Given the description of an element on the screen output the (x, y) to click on. 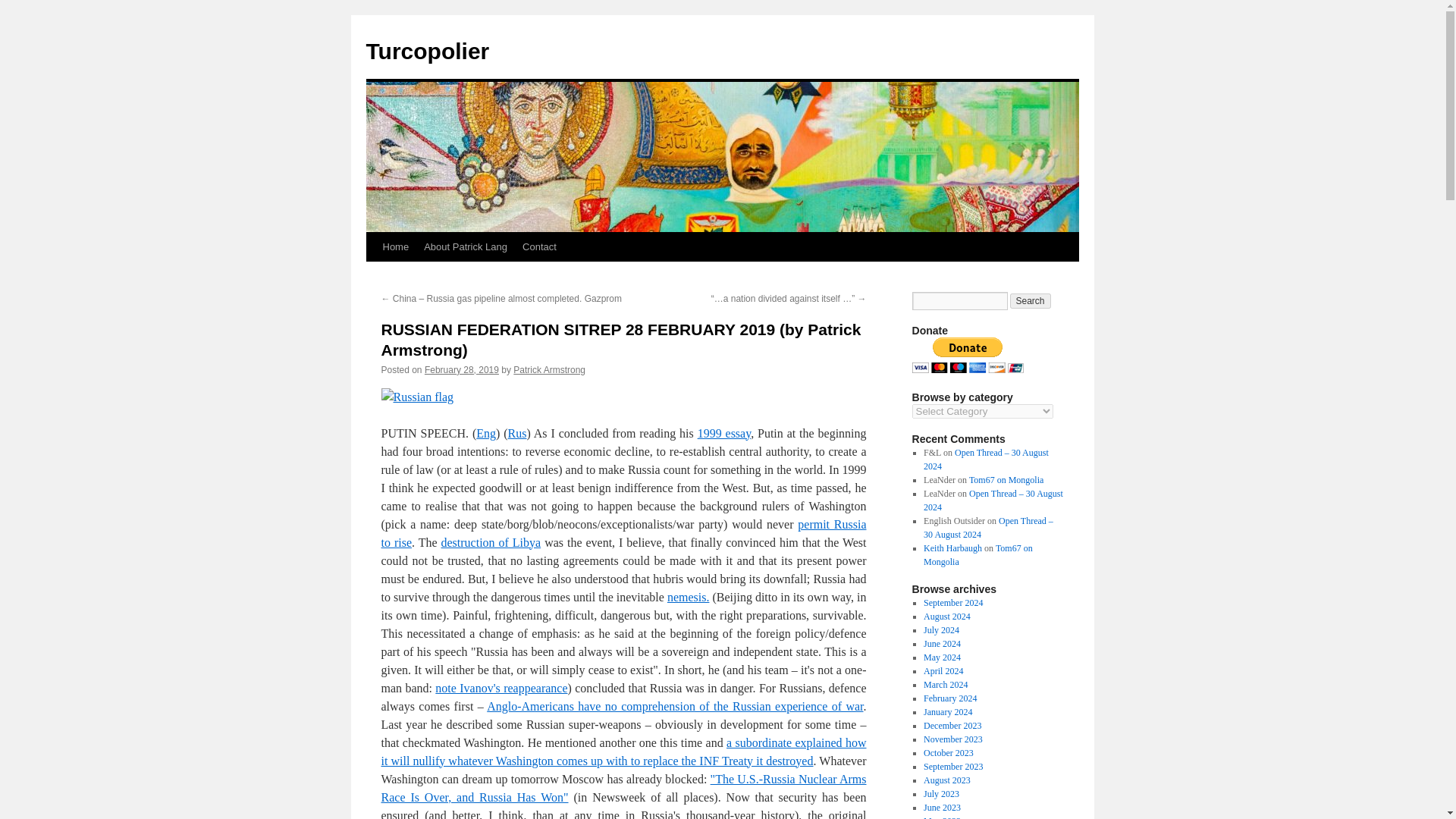
Turcopolier (427, 50)
nemesis. (688, 596)
2:18 pm (462, 369)
1999 essay (724, 432)
February 28, 2019 (462, 369)
Eng (486, 432)
About Patrick Lang (465, 246)
Rus (517, 432)
